Given the description of an element on the screen output the (x, y) to click on. 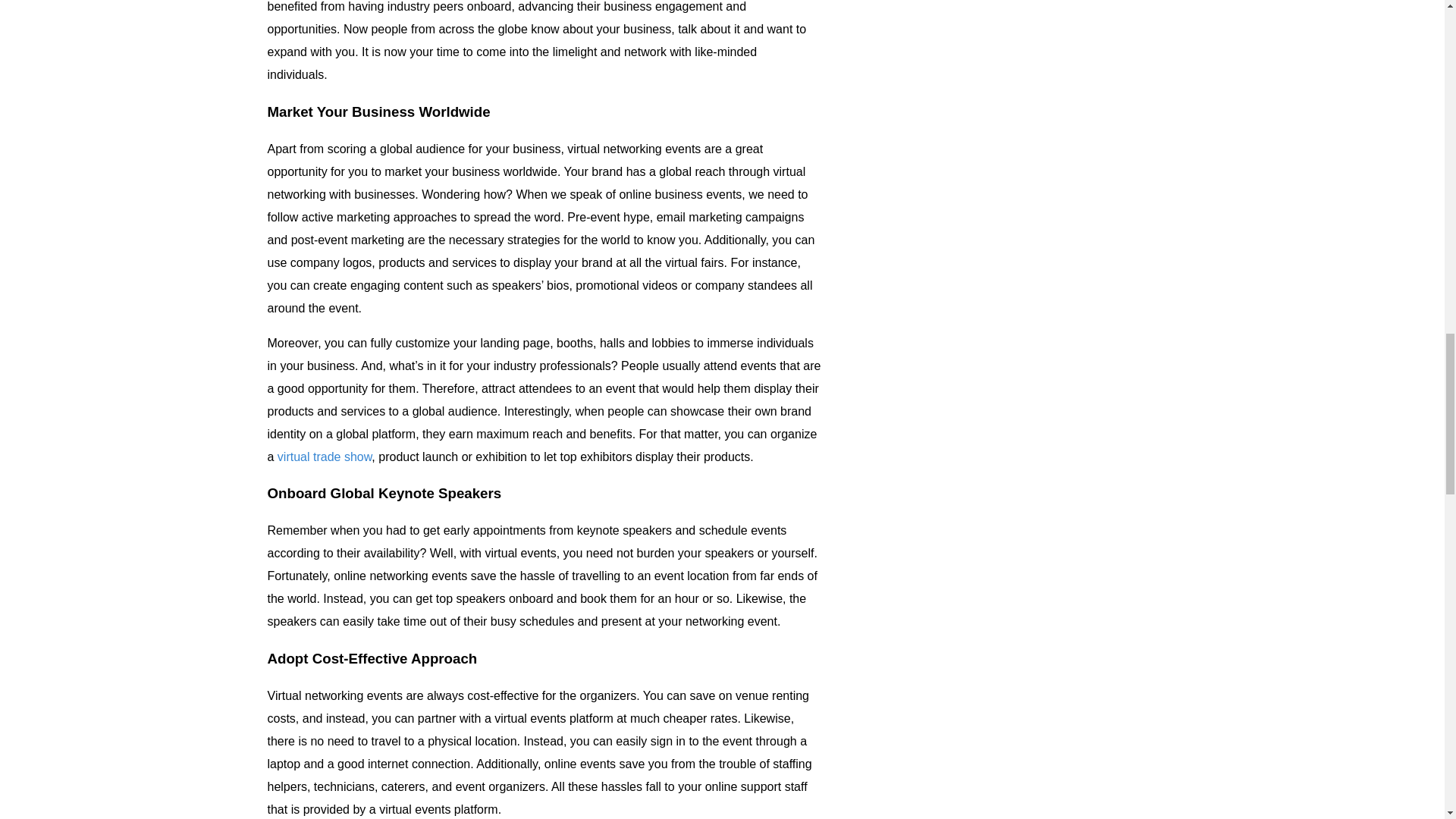
virtual trade show (325, 456)
